Given the description of an element on the screen output the (x, y) to click on. 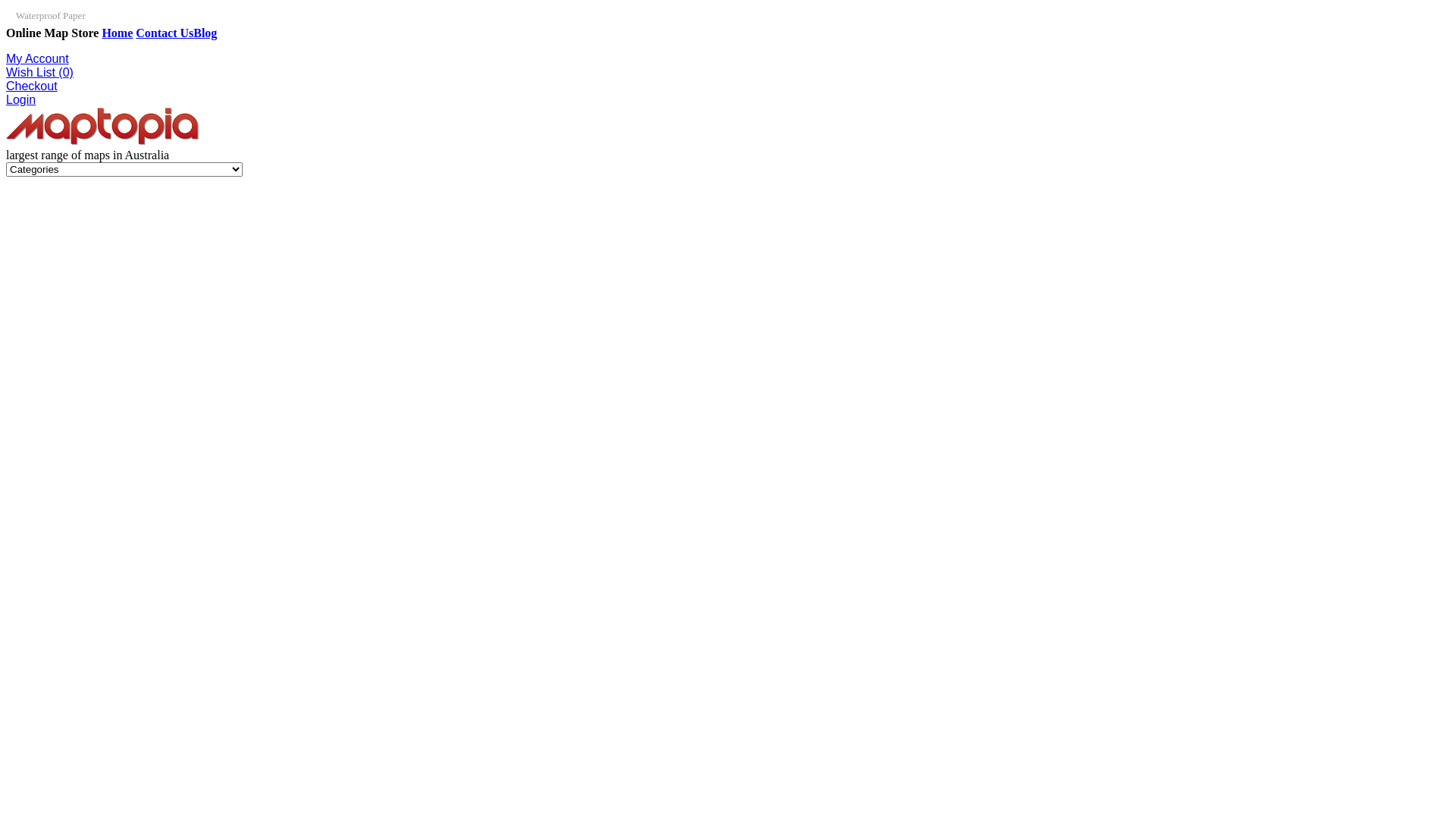
Checkout Element type: text (31, 85)
Home Element type: text (116, 32)
Maptopia Element type: hover (103, 125)
Contact Us Element type: text (164, 32)
Login Element type: text (20, 99)
My Account Element type: text (37, 58)
Wish List (0) Element type: text (39, 71)
Blog Element type: text (204, 32)
